Given the description of an element on the screen output the (x, y) to click on. 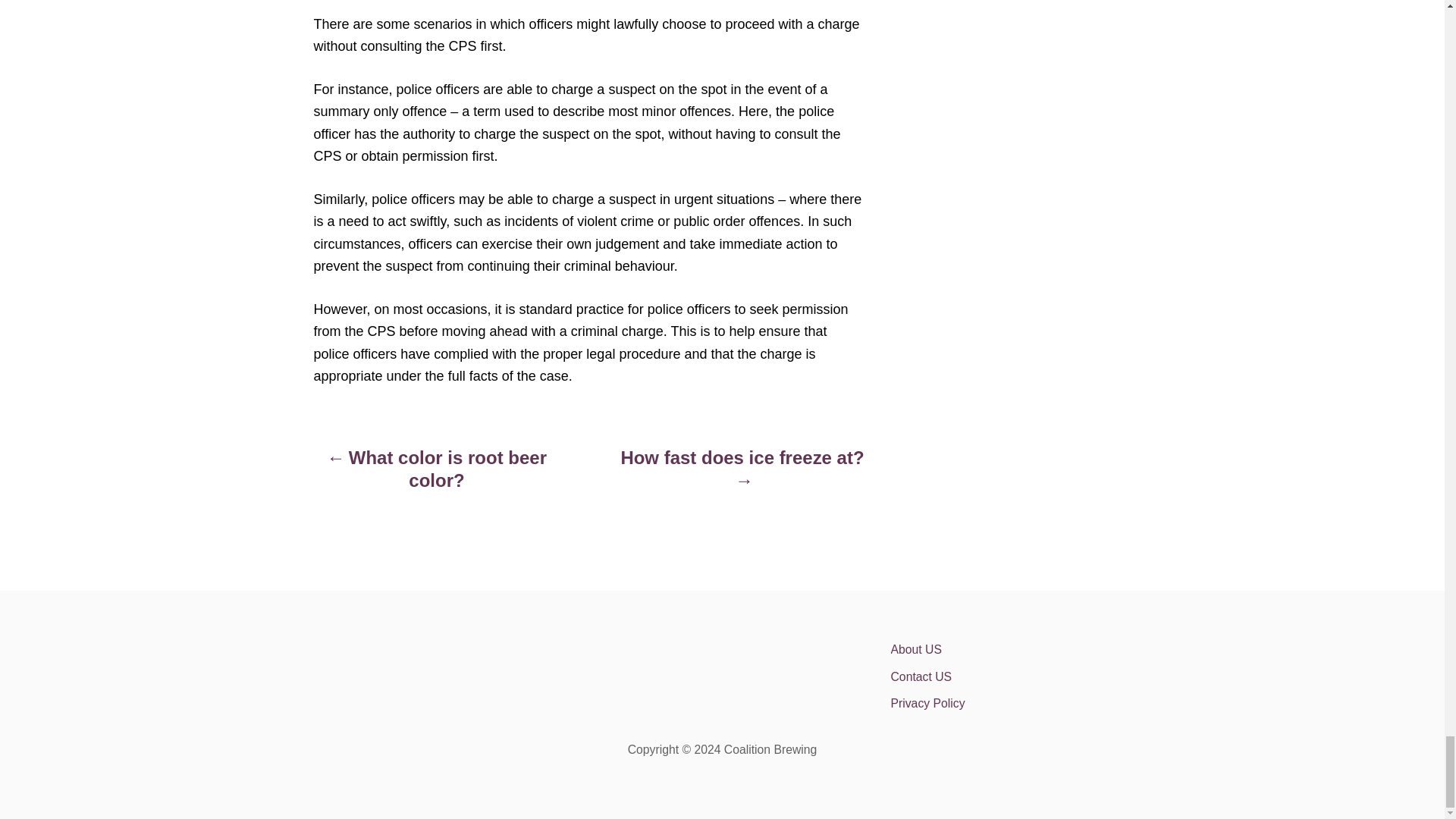
Privacy Policy (1021, 703)
Contact US (1021, 677)
What color is root beer color? (437, 476)
About US (1021, 649)
How fast does ice freeze at? (741, 476)
